Given the description of an element on the screen output the (x, y) to click on. 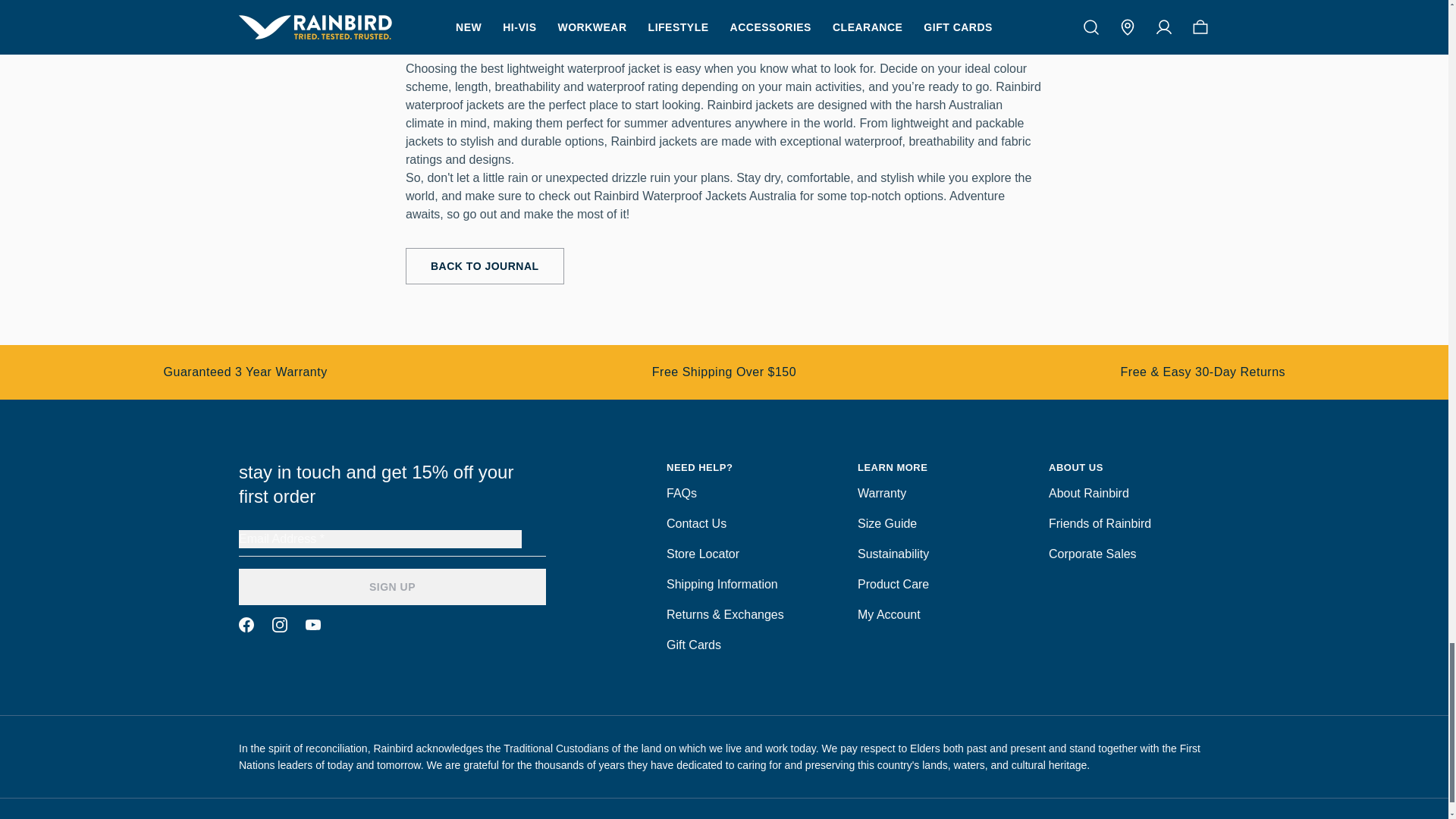
Tiktok (312, 624)
Instagram (279, 624)
Facebook (245, 624)
